Given the description of an element on the screen output the (x, y) to click on. 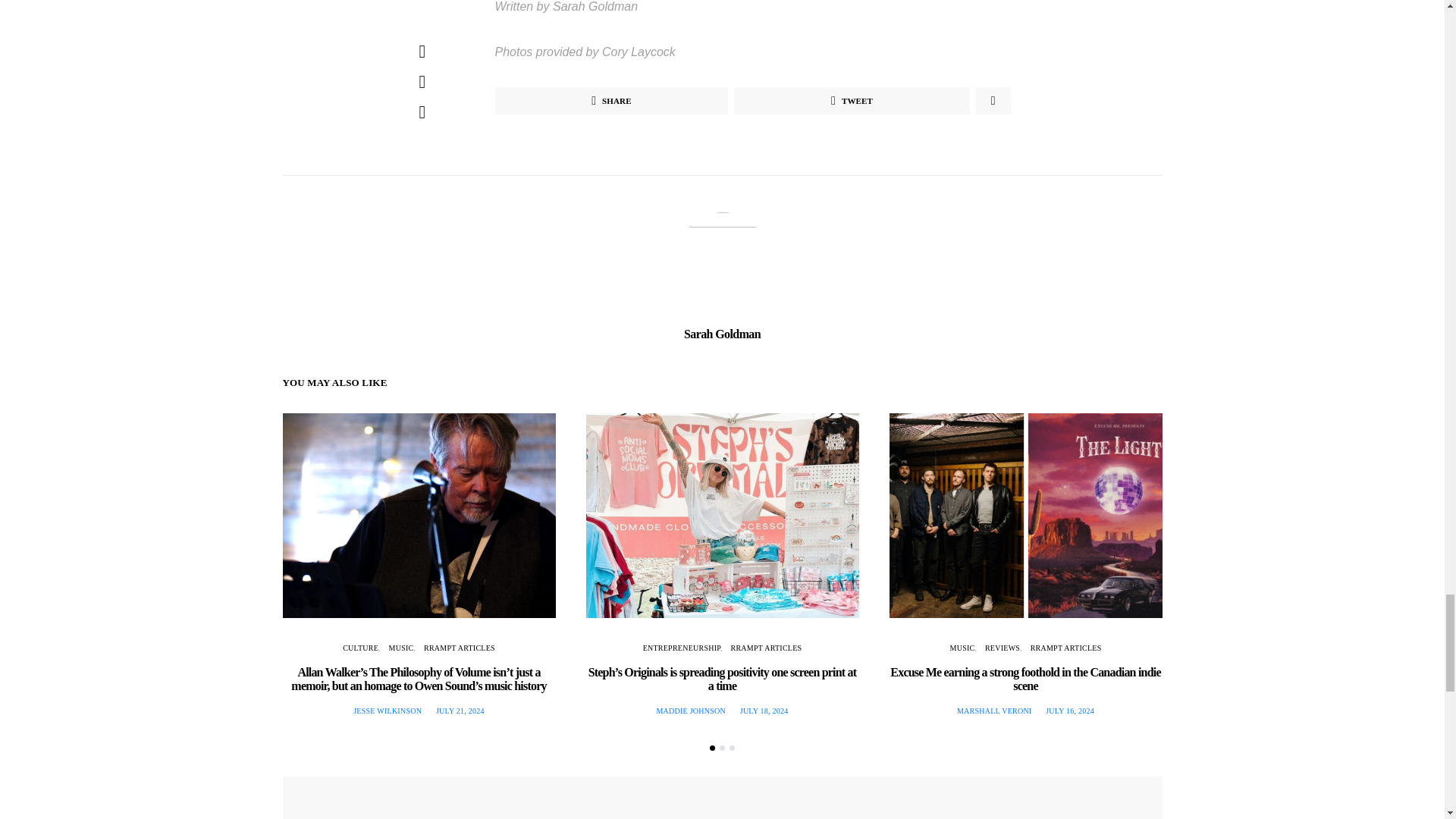
View all posts by Marshall Veroni (993, 710)
View all posts by Maddie Johnson (690, 710)
View all posts by Jesse Wilkinson (387, 710)
